Given the description of an element on the screen output the (x, y) to click on. 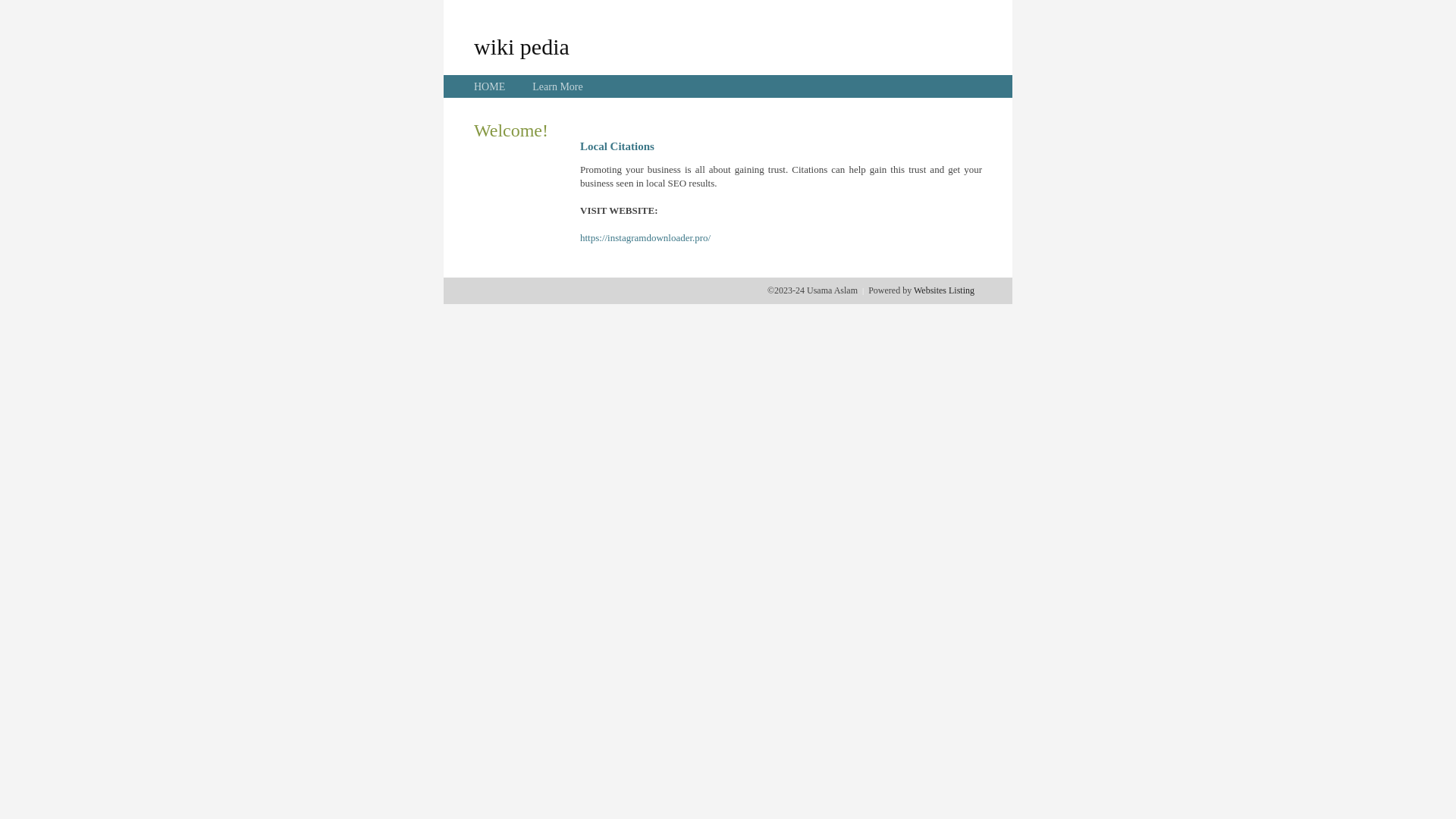
Websites Listing Element type: text (943, 290)
Learn More Element type: text (557, 86)
HOME Element type: text (489, 86)
wiki pedia Element type: text (521, 46)
https://instagramdownloader.pro/ Element type: text (645, 237)
